Given the description of an element on the screen output the (x, y) to click on. 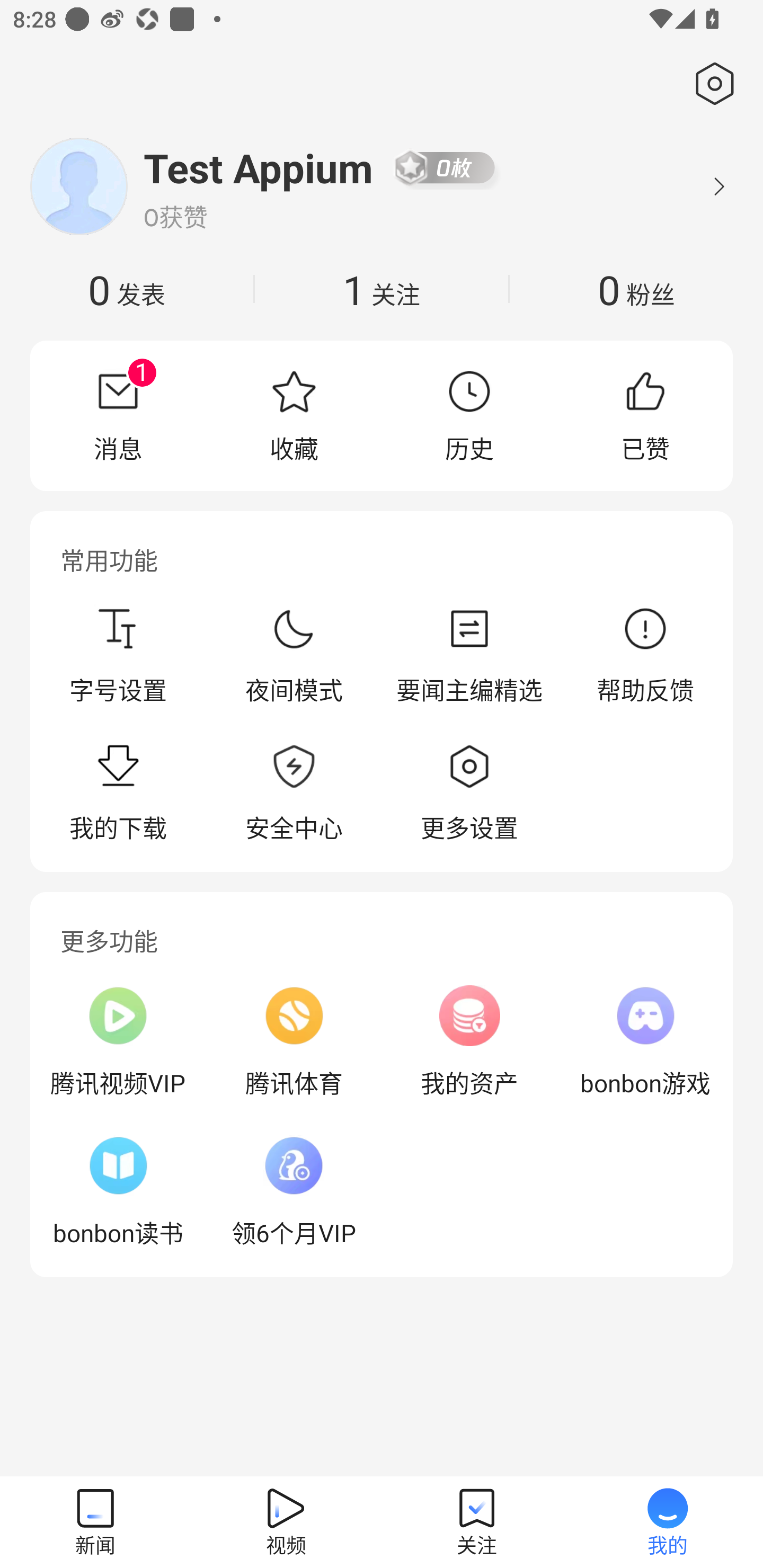
设置，可点击 (711, 83)
头像，可点击 (78, 186)
用户：Test Appium，可点击 (258, 167)
0枚勋章，可点击 (444, 167)
0发表，可点击 (126, 288)
1关注，可点击 (381, 288)
0粉丝，可点击 (636, 288)
消息，可点击 (118, 415)
收藏，可点击 (293, 415)
历史，可点击 (469, 415)
已赞，可点击 (644, 415)
字号设置，可点击 (118, 655)
夜间模式，可点击 (293, 655)
要闻主编精选，可点击 (469, 655)
帮助反馈，可点击 (644, 655)
我的下载，可点击 (118, 793)
安全中心，可点击 (293, 793)
更多设置，可点击 (469, 793)
腾讯视频VIP，可点击 (118, 1041)
腾讯体育，可点击 (293, 1041)
我的资产，可点击 (469, 1041)
bonbon游戏，可点击 (644, 1041)
bonbon读书，可点击 (118, 1191)
领6个月VIP，可点击 (293, 1191)
